Given the description of an element on the screen output the (x, y) to click on. 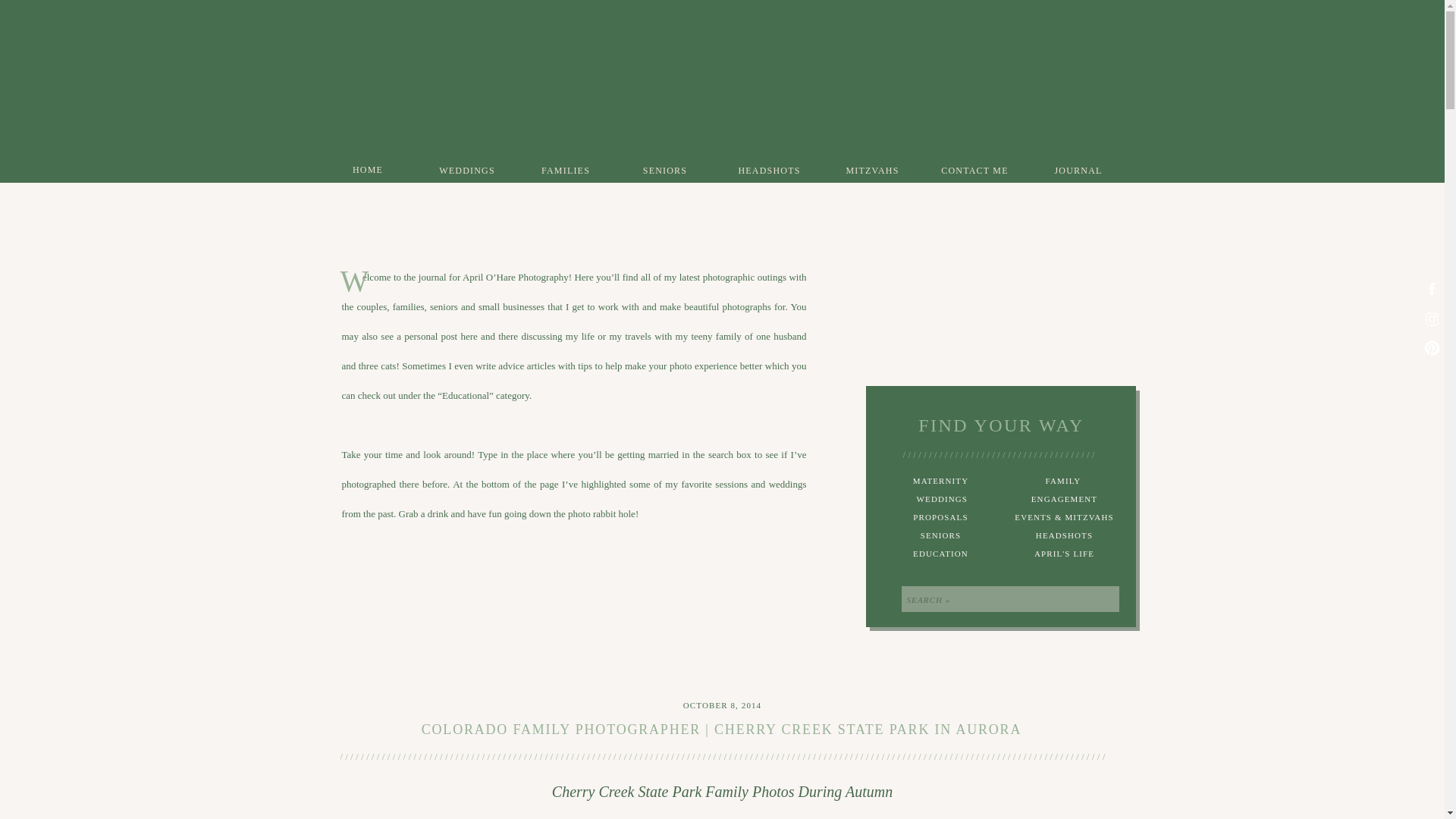
JOURNAL (1078, 169)
HOME (367, 169)
WEDDINGS (466, 169)
MITZVAHS (872, 169)
MATERNITY (940, 482)
SENIORS (940, 536)
CONTACT ME (975, 169)
HEADSHOTS (1064, 536)
HEADSHOTS (768, 169)
FAMILY (1062, 482)
ENGAGEMENT (1064, 500)
SENIORS (664, 169)
 WEDDINGS (940, 500)
FAMILIES (565, 169)
APRIL'S LIFE (1064, 555)
